Given the description of an element on the screen output the (x, y) to click on. 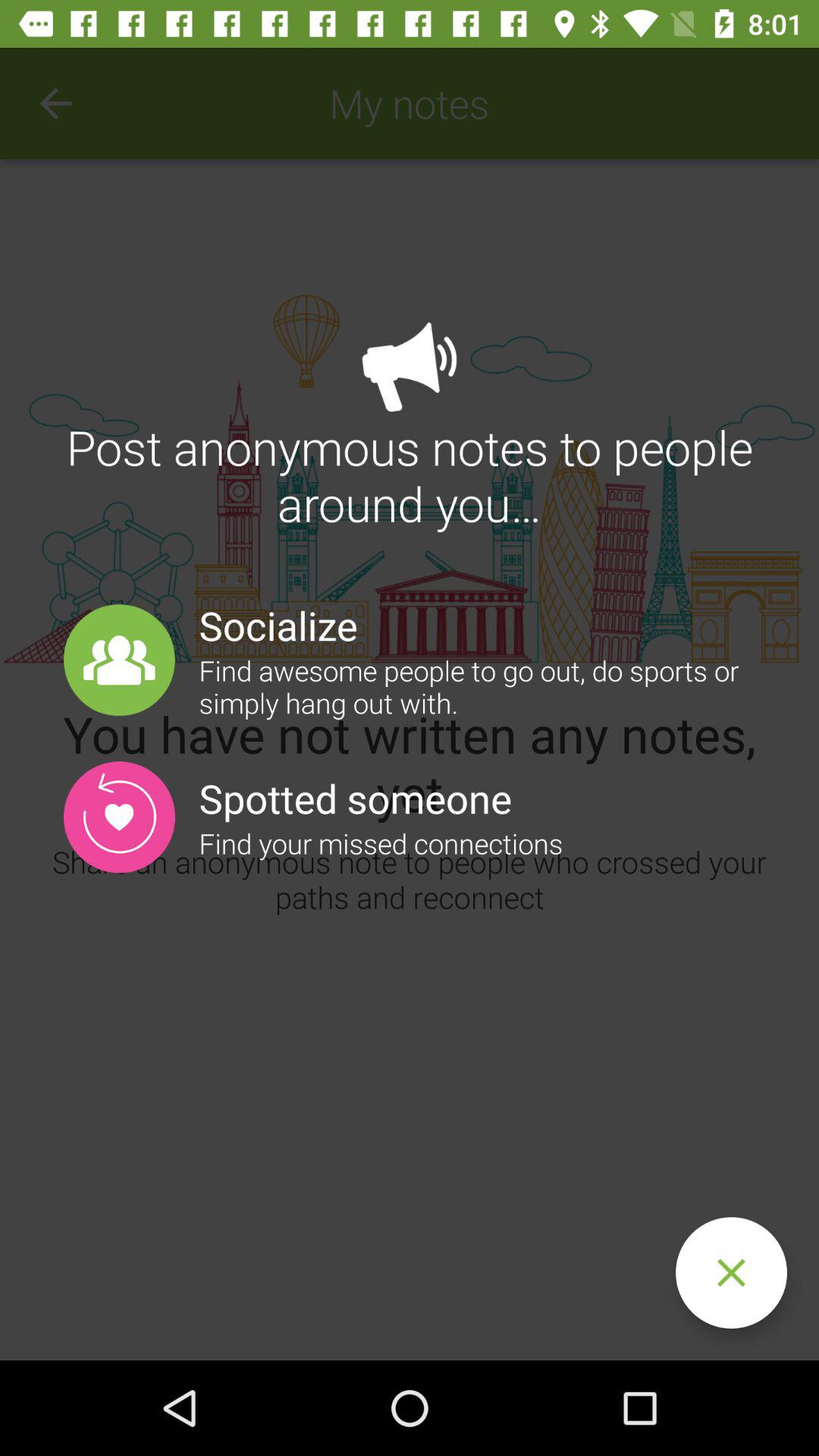
close overlay (731, 1272)
